Given the description of an element on the screen output the (x, y) to click on. 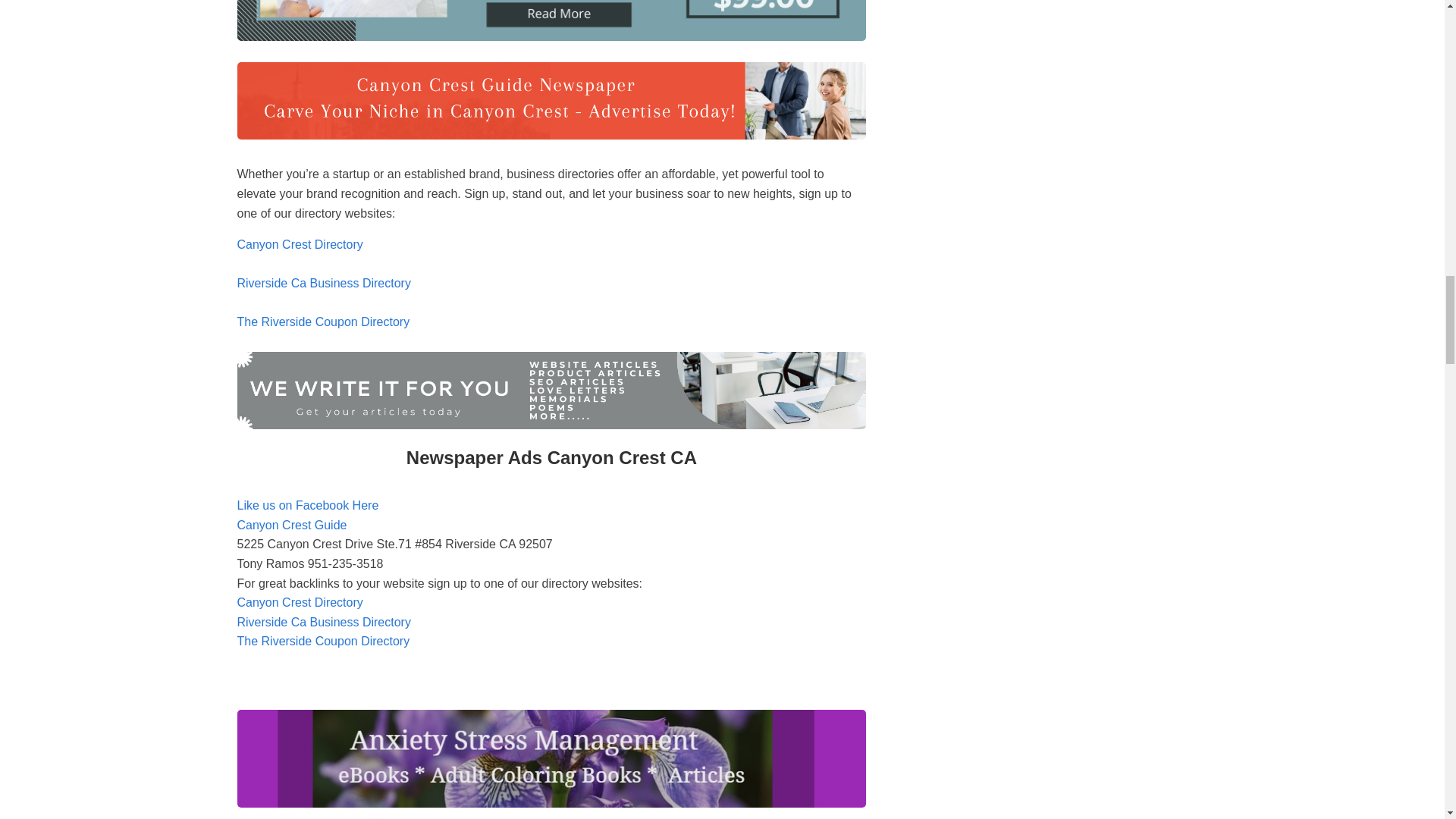
The Riverside Coupon Directory (322, 321)
Riverside Ca Business Directory (322, 282)
Canyon Crest Directory (298, 602)
Like us on Facebook Here (306, 514)
Canyon Crest Guide (290, 524)
Riverside Ca Business Directory (322, 621)
Canyon Crest Directory (298, 244)
